Given the description of an element on the screen output the (x, y) to click on. 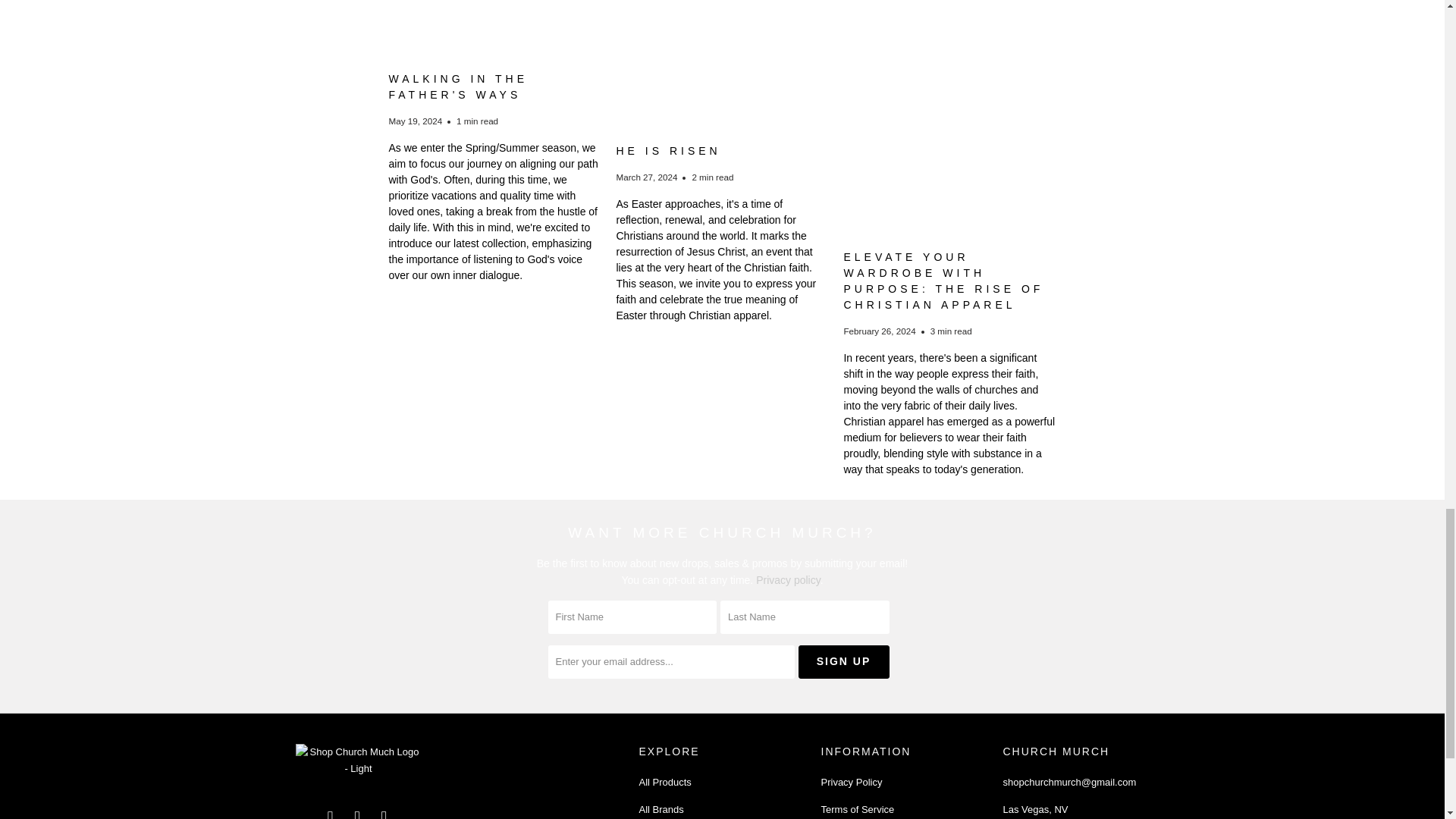
Walking in the Father's Ways (493, 33)
Sign Up (842, 661)
Walking in the Father's Ways (457, 86)
